Given the description of an element on the screen output the (x, y) to click on. 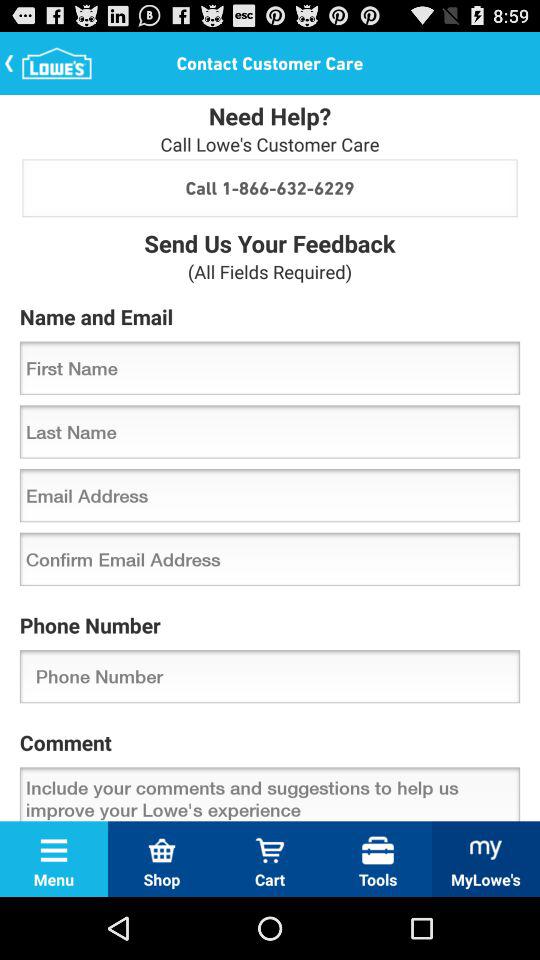
turn off call 1 866 (269, 187)
